Given the description of an element on the screen output the (x, y) to click on. 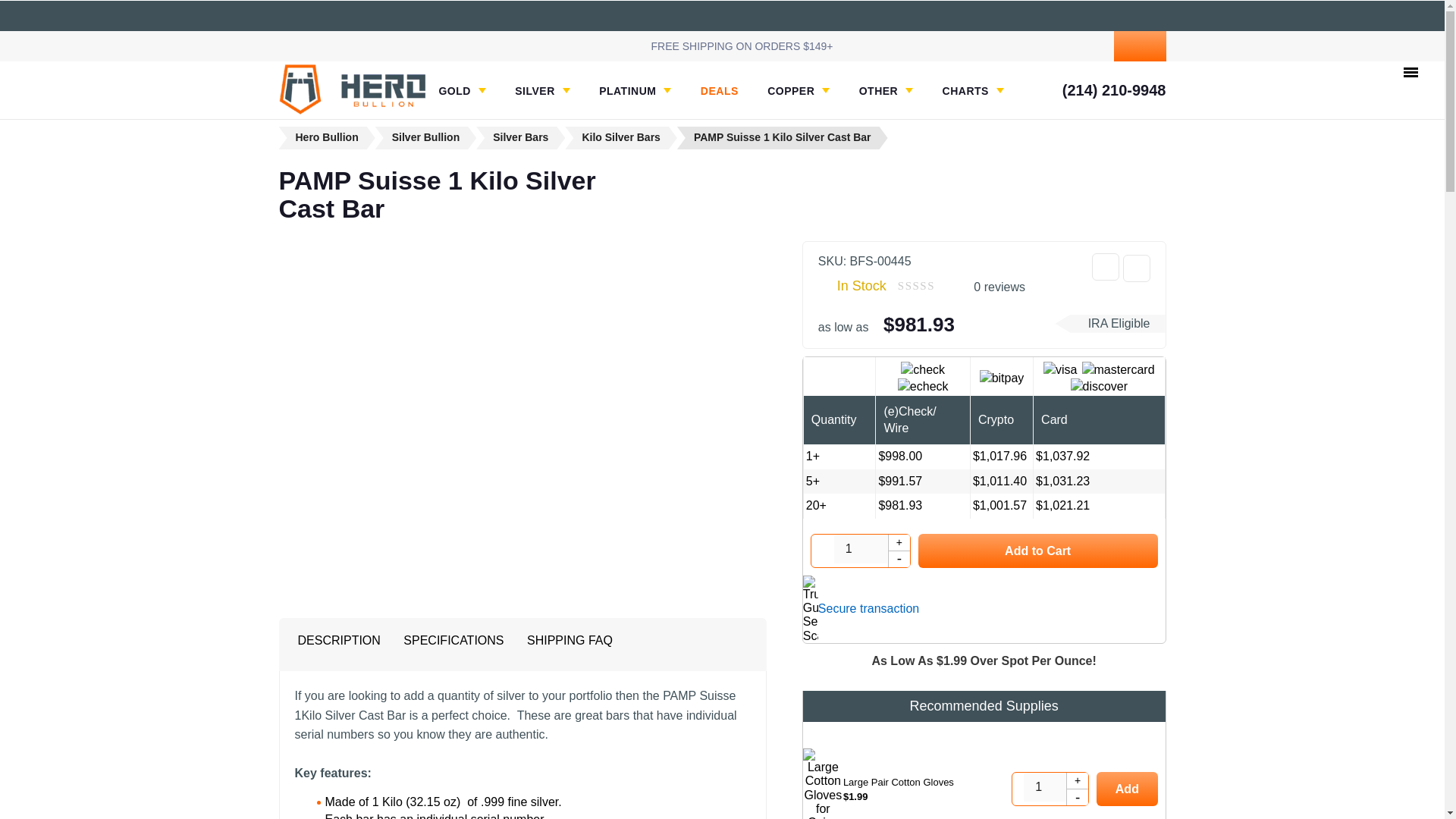
Compare (1136, 267)
Search (1026, 46)
GOLD (461, 91)
Plus Quantity (1076, 781)
Share (1105, 266)
1 (860, 548)
Plus Quantity (899, 542)
1 (1050, 787)
SILVER (542, 91)
Minus Quantity (1076, 796)
